Given the description of an element on the screen output the (x, y) to click on. 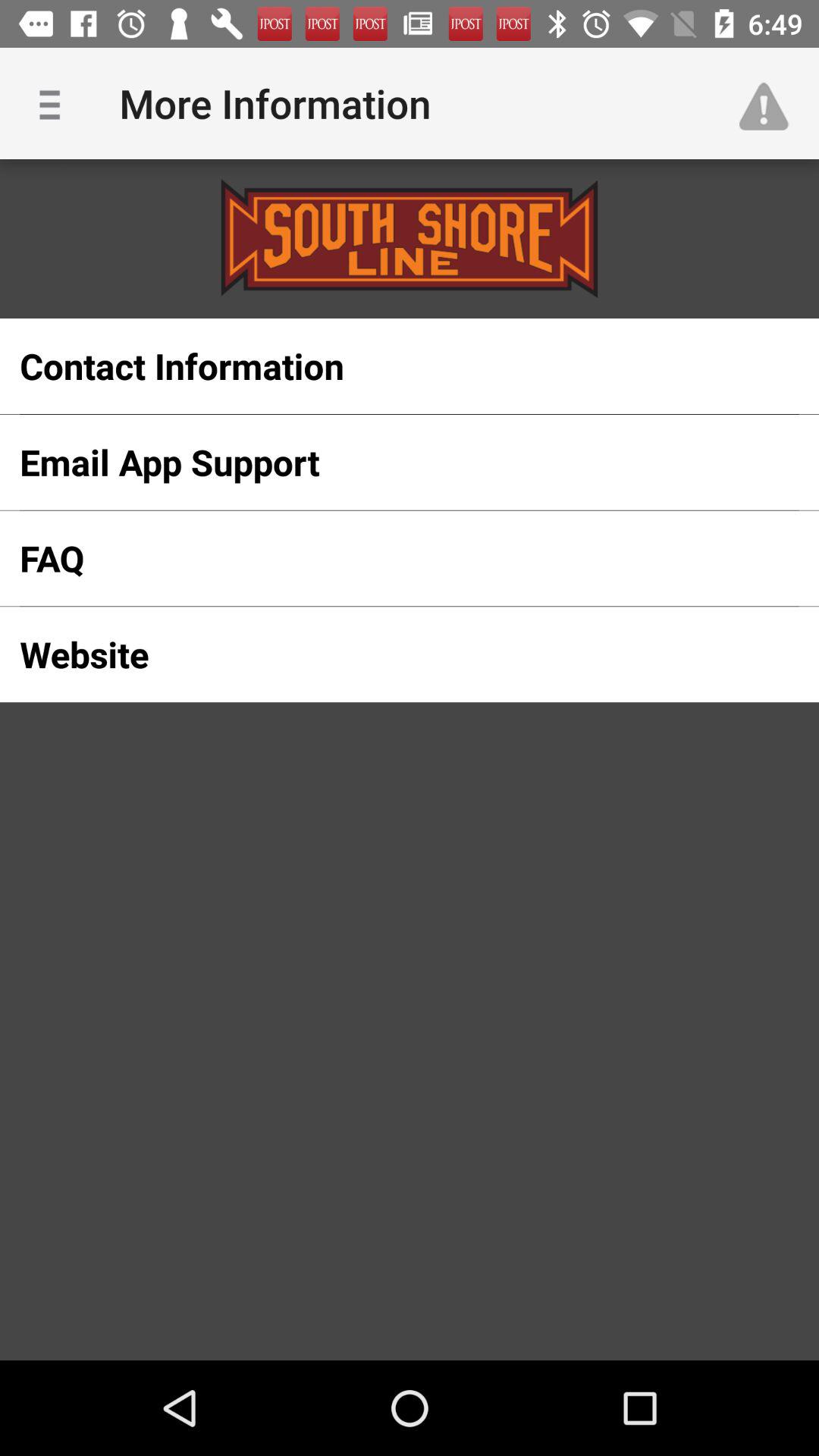
tap the icon above the faq icon (385, 462)
